Given the description of an element on the screen output the (x, y) to click on. 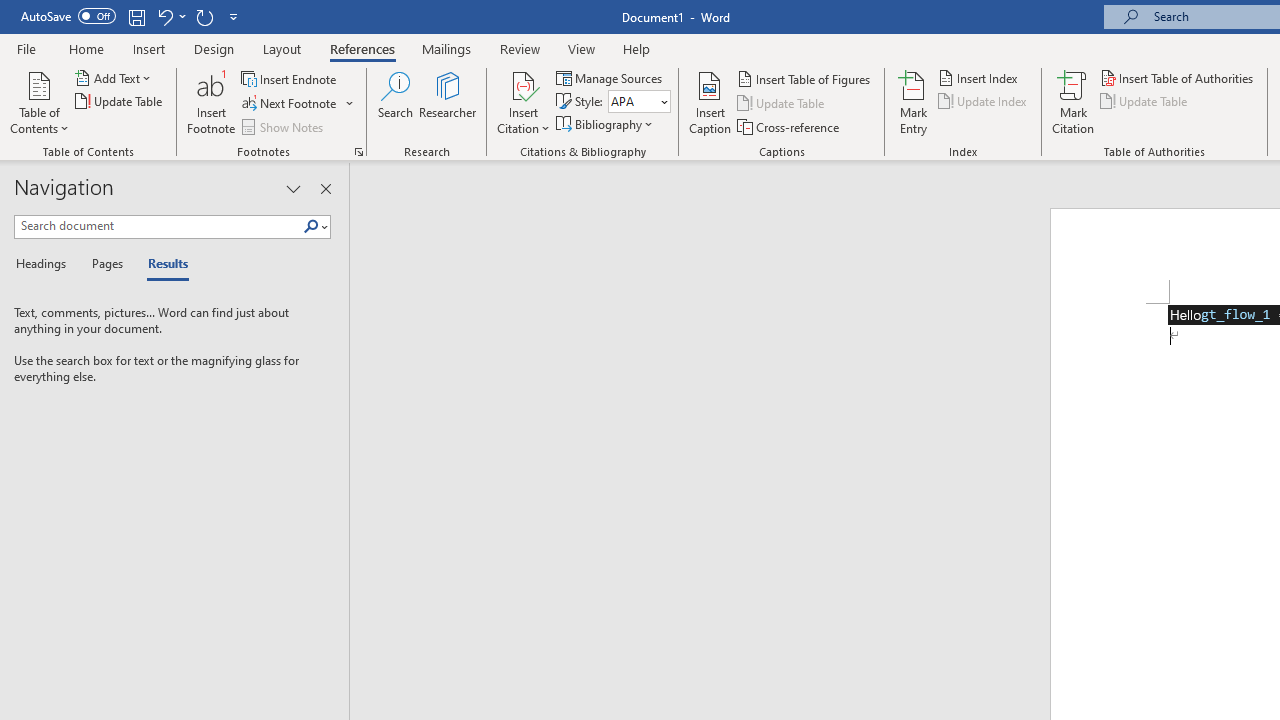
Add Text (114, 78)
Insert Table of Authorities... (1177, 78)
Insert Index... (979, 78)
Style (639, 101)
Insert Footnote (211, 102)
Update Table (1145, 101)
Show Notes (284, 126)
Style (632, 101)
Insert Table of Figures... (804, 78)
References (362, 48)
Undo Underline Style (164, 15)
